Given the description of an element on the screen output the (x, y) to click on. 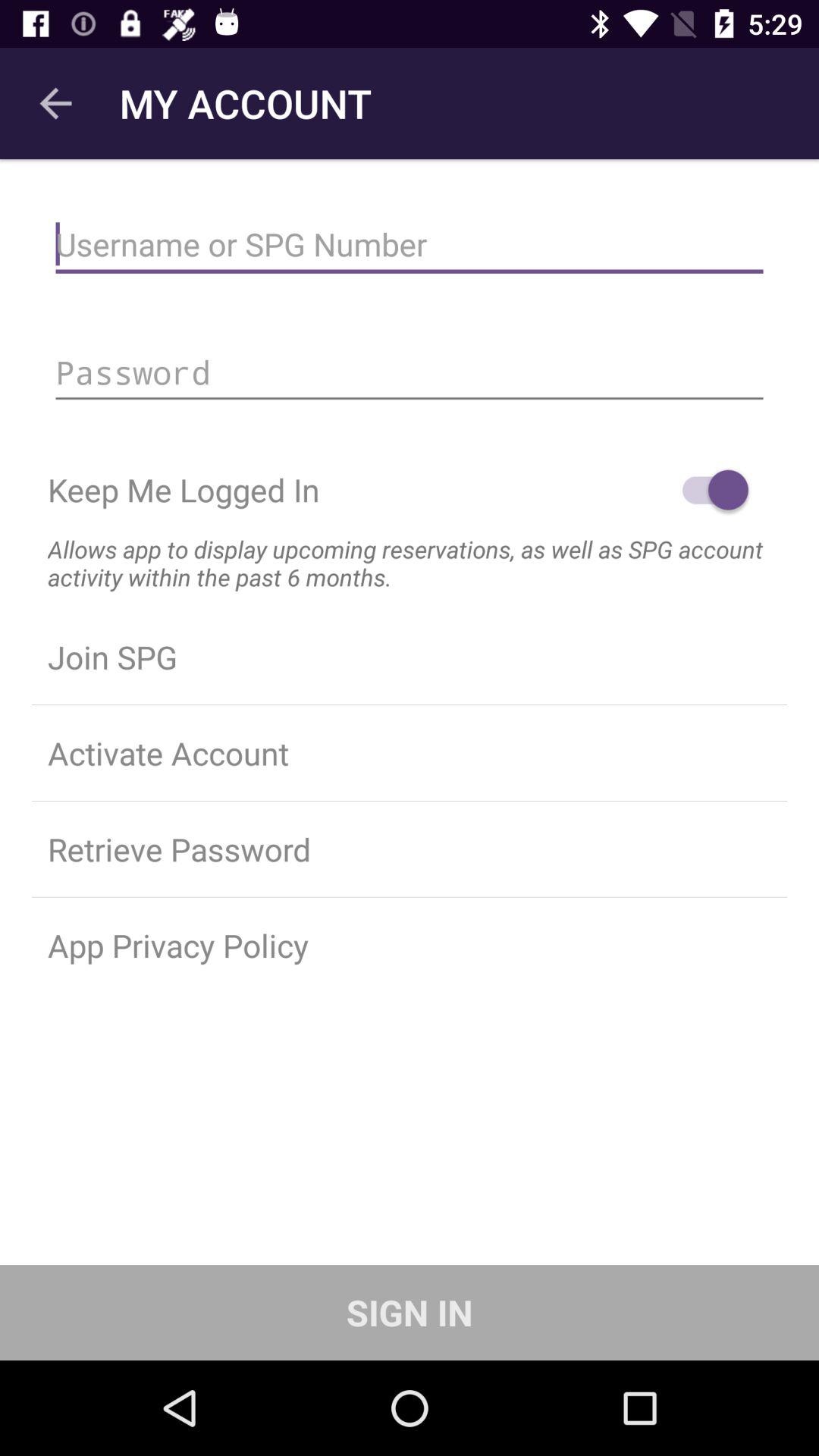
tap icon above sign in icon (409, 945)
